Given the description of an element on the screen output the (x, y) to click on. 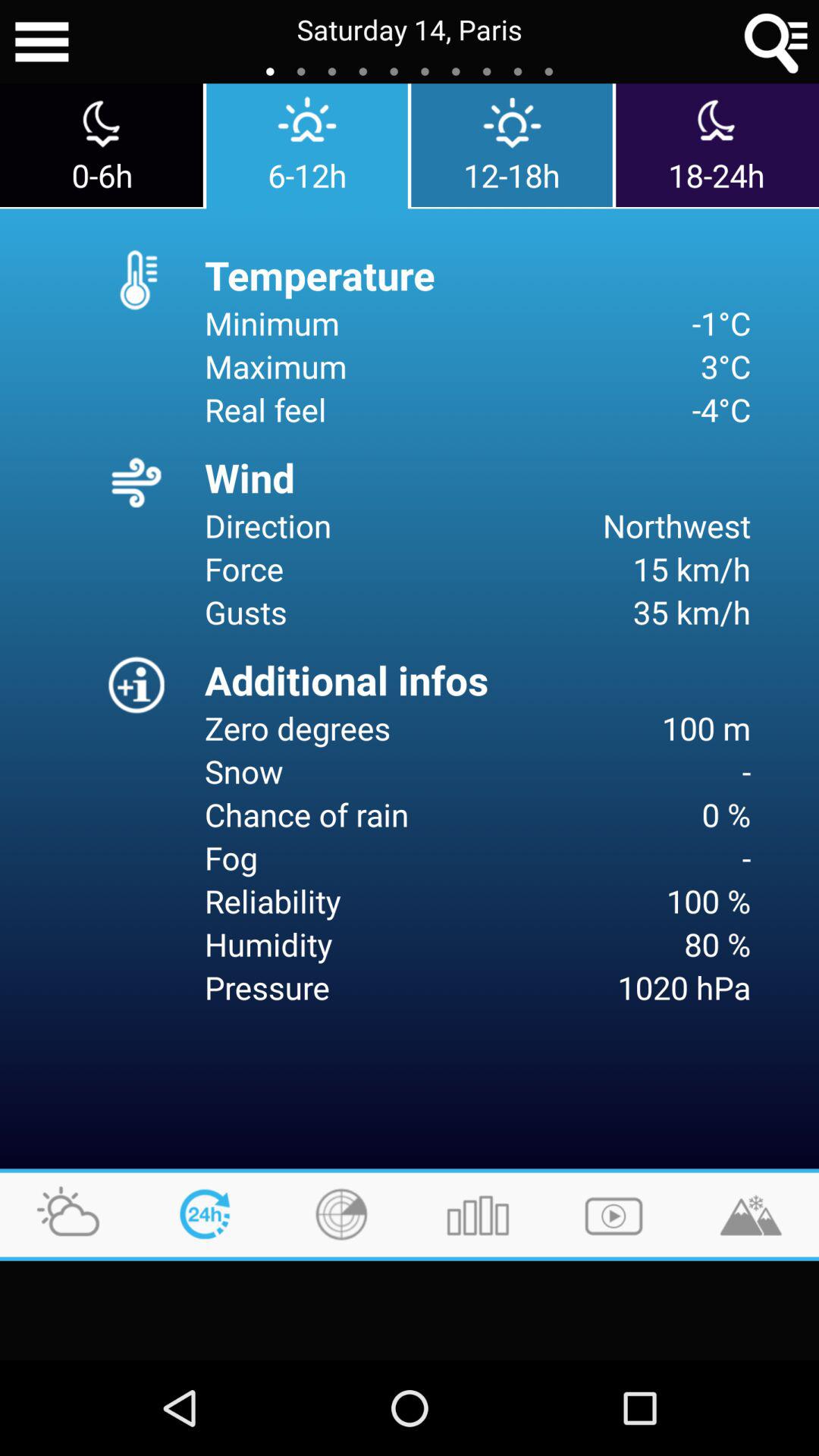
turn on the app to the right of the 0-6h app (306, 145)
